Given the description of an element on the screen output the (x, y) to click on. 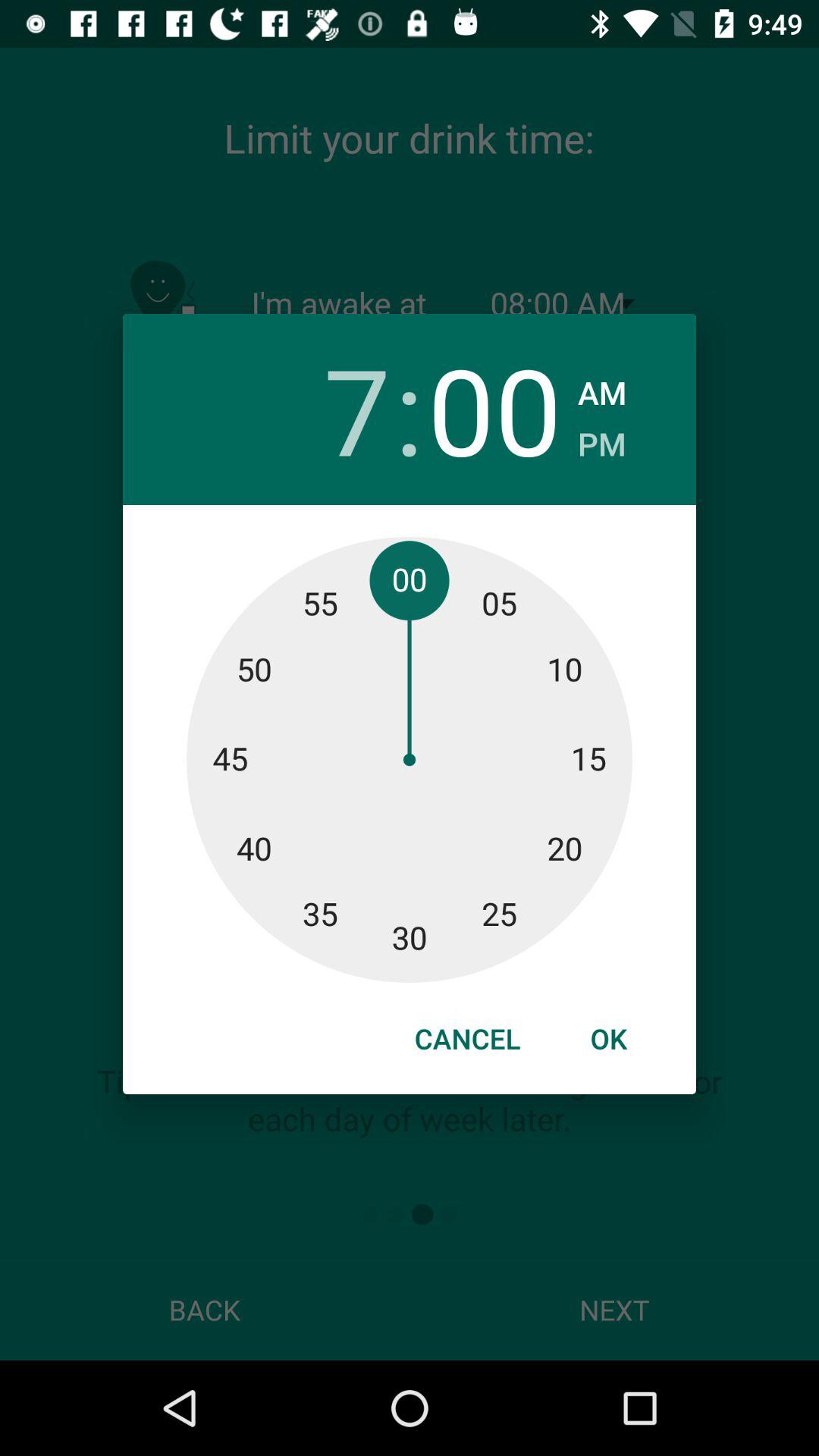
click the pm (601, 439)
